Given the description of an element on the screen output the (x, y) to click on. 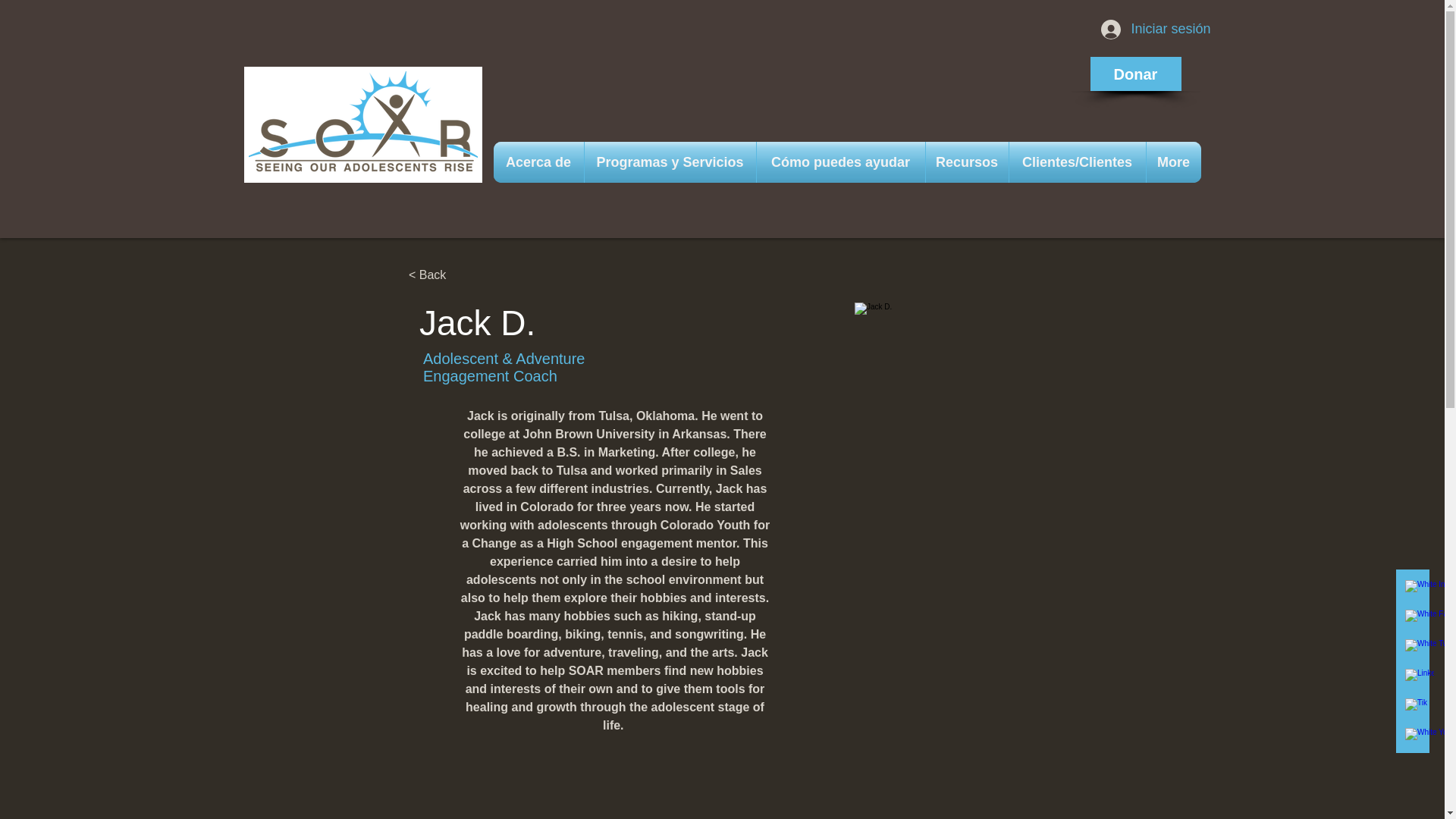
Donar (1135, 73)
Acerca de (538, 161)
Recursos (965, 161)
Programas y Servicios (669, 161)
IMG-4716.PNG (1002, 450)
